Given the description of an element on the screen output the (x, y) to click on. 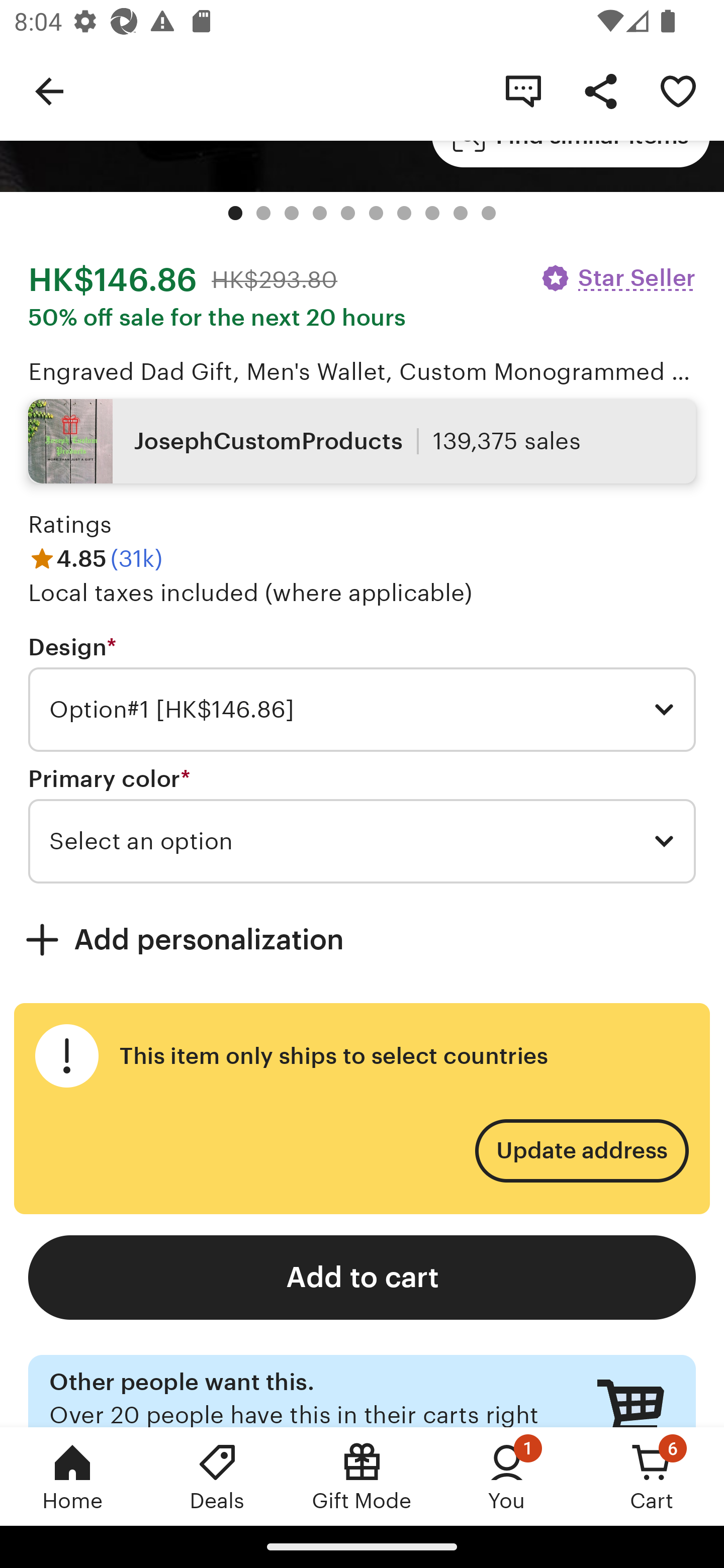
Navigate up (49, 90)
Contact shop (523, 90)
Share (600, 90)
Star Seller (617, 277)
JosephCustomProducts 139,375 sales (361, 440)
Ratings (70, 524)
4.85 (31k) (95, 558)
Design * Required Option#1 [HK$146.86] (361, 692)
Option#1 [HK$146.86] (361, 709)
Primary color * Required Select an option (361, 823)
Select an option (361, 840)
Add personalization Add personalization Required (362, 938)
Update address (581, 1150)
Add to cart (361, 1277)
Deals (216, 1475)
Gift Mode (361, 1475)
You, 1 new notification You (506, 1475)
Cart, 6 new notifications Cart (651, 1475)
